Given the description of an element on the screen output the (x, y) to click on. 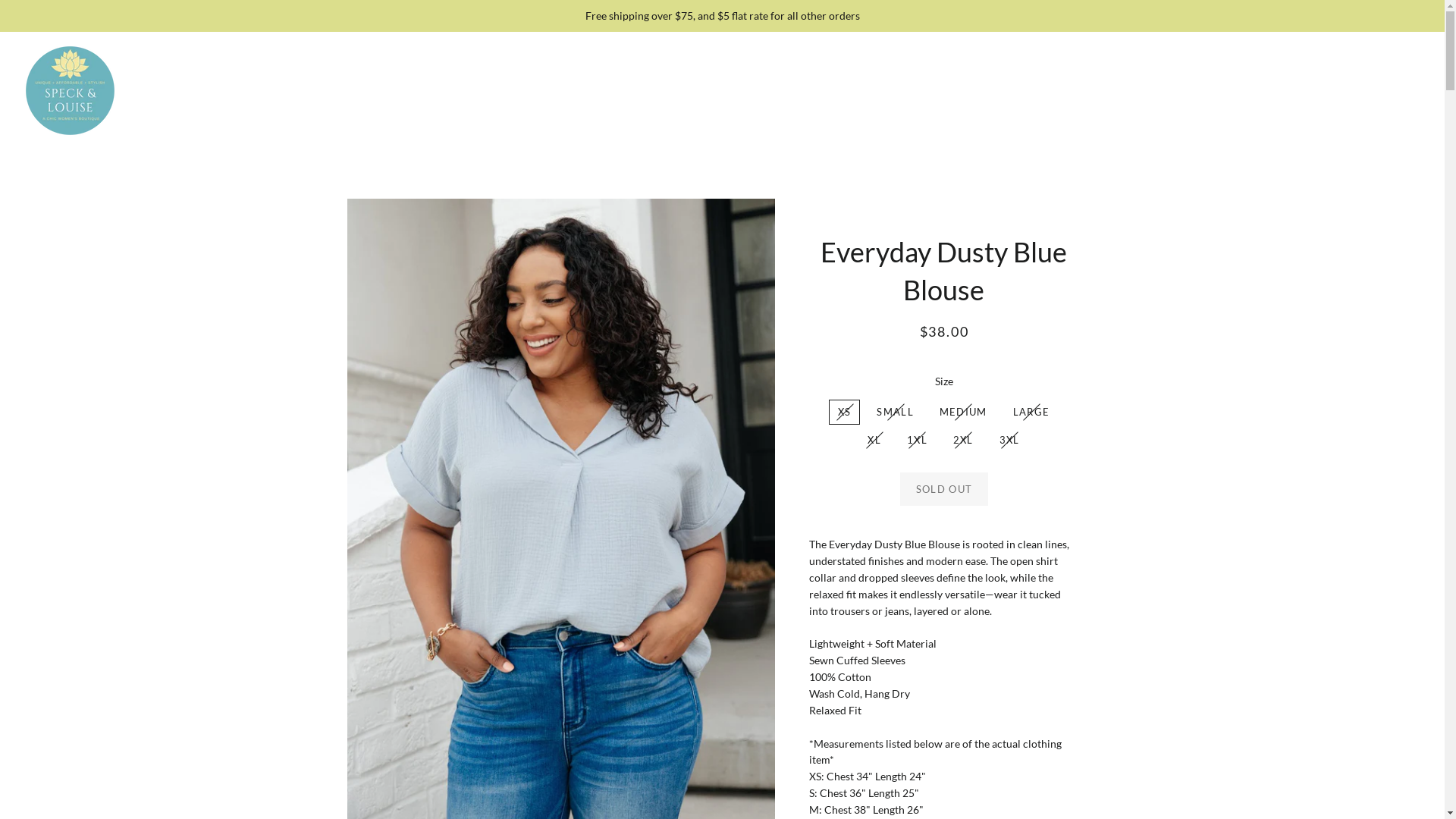
SOLD OUT Element type: text (944, 488)
